Given the description of an element on the screen output the (x, y) to click on. 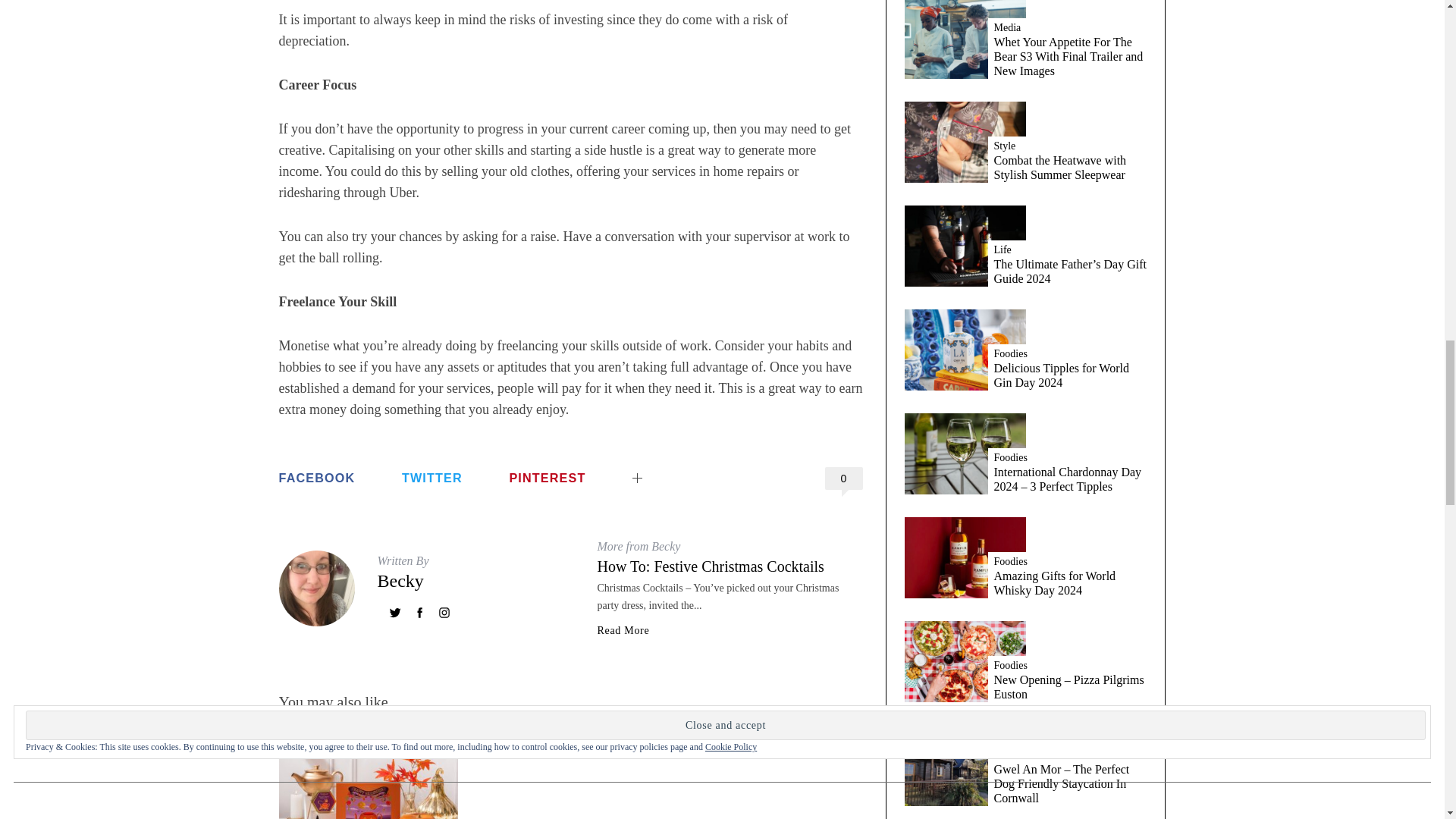
TWITTER (432, 478)
0 (844, 477)
Becky (400, 580)
Read More (622, 630)
How To: Festive Christmas Cocktails (710, 565)
LINKEDIN (681, 465)
PINTEREST (546, 478)
FACEBOOK (317, 478)
